Given the description of an element on the screen output the (x, y) to click on. 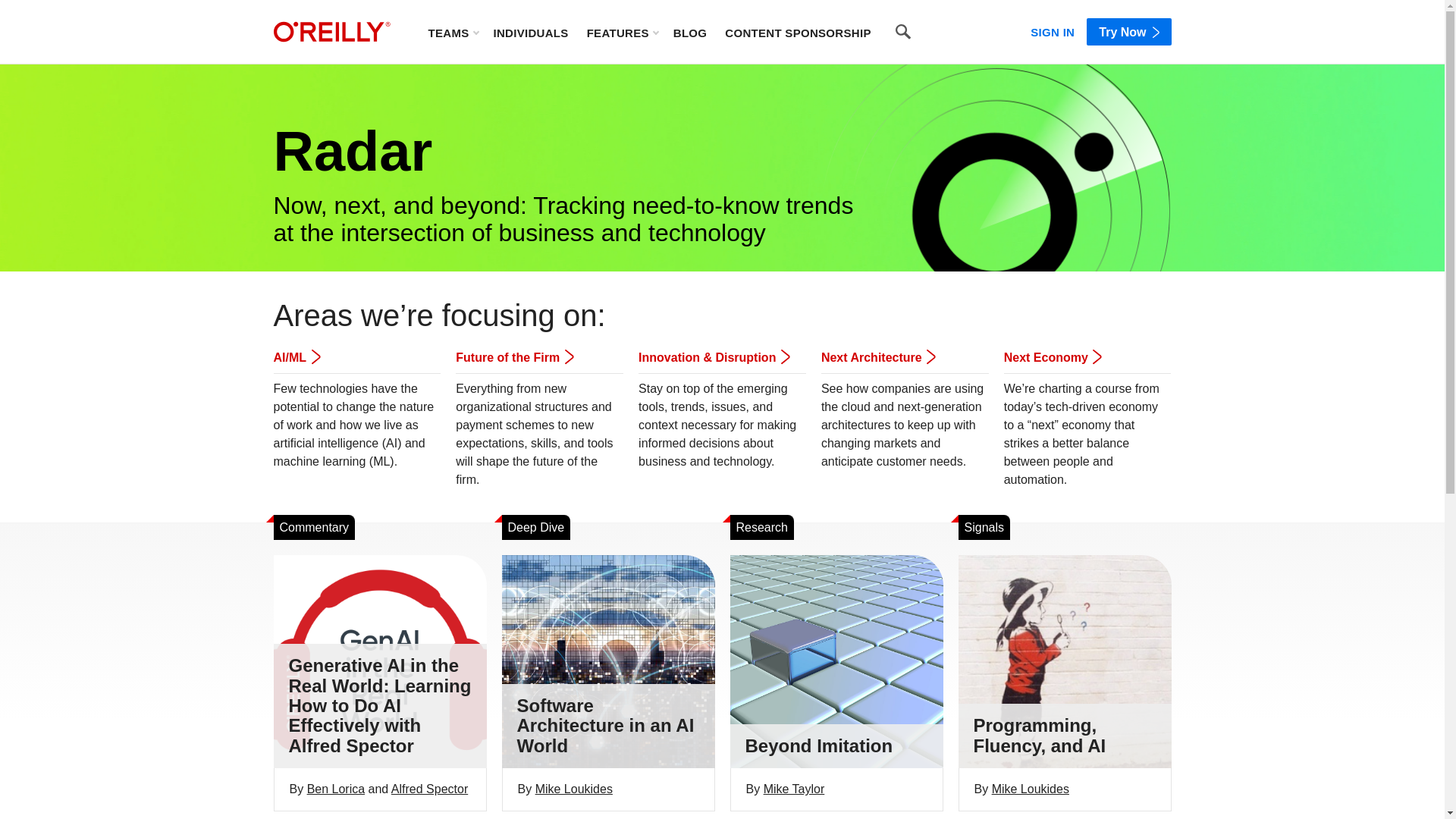
INDIVIDUALS (530, 31)
Commentary (314, 527)
CONTENT SPONSORSHIP (797, 31)
home page (331, 31)
BLOG (689, 31)
Next Economy (1052, 357)
Next Architecture (877, 357)
TEAMS (452, 31)
Search (903, 31)
Try Now (1128, 31)
Future of the Firm (513, 357)
Alfred Spector (429, 788)
Ben Lorica (336, 788)
FEATURES (622, 31)
